Given the description of an element on the screen output the (x, y) to click on. 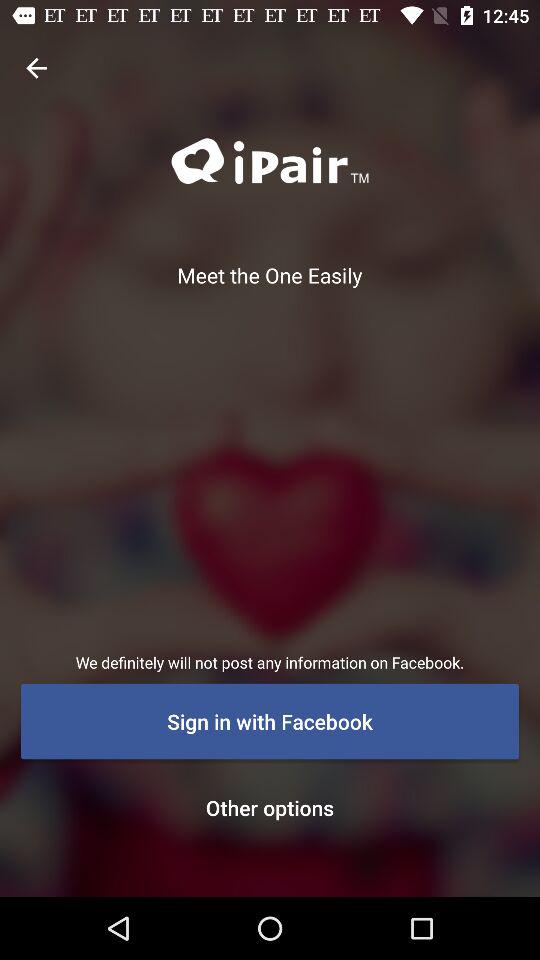
select item below the sign in with (270, 807)
